Given the description of an element on the screen output the (x, y) to click on. 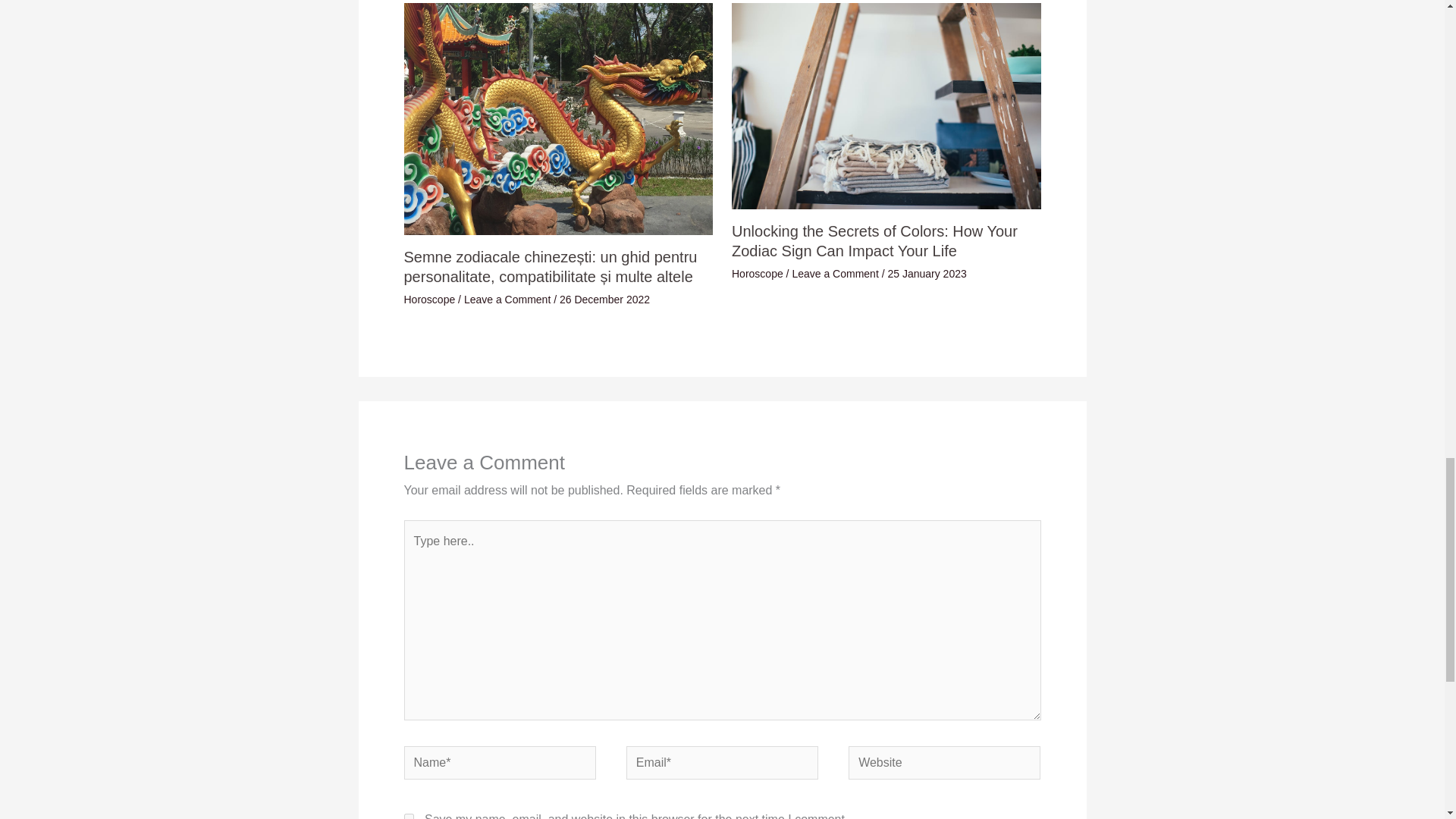
Leave a Comment (834, 273)
yes (408, 816)
Horoscope (757, 273)
Leave a Comment (507, 299)
Horoscope (428, 299)
